Given the description of an element on the screen output the (x, y) to click on. 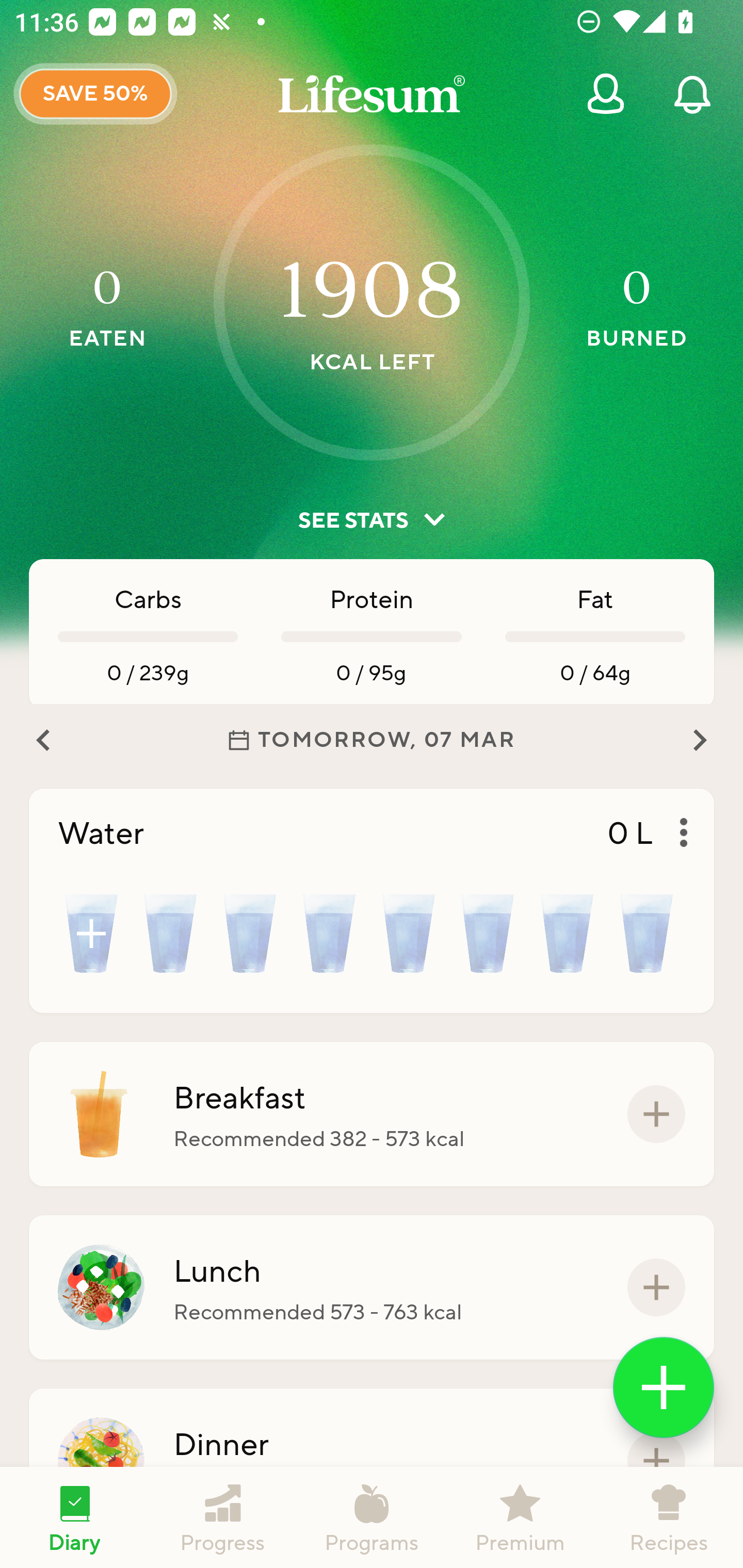
SEE STATS (371, 519)
TOMORROW, 07 MAR (371, 739)
Breakfast Recommended 382 - 573 kcal (371, 1113)
Lunch Recommended 573 - 763 kcal (371, 1287)
Dinner Recommended 573 - 763 kcal (371, 1461)
Progress (222, 1517)
Programs (371, 1517)
Premium (519, 1517)
Recipes (668, 1517)
